Given the description of an element on the screen output the (x, y) to click on. 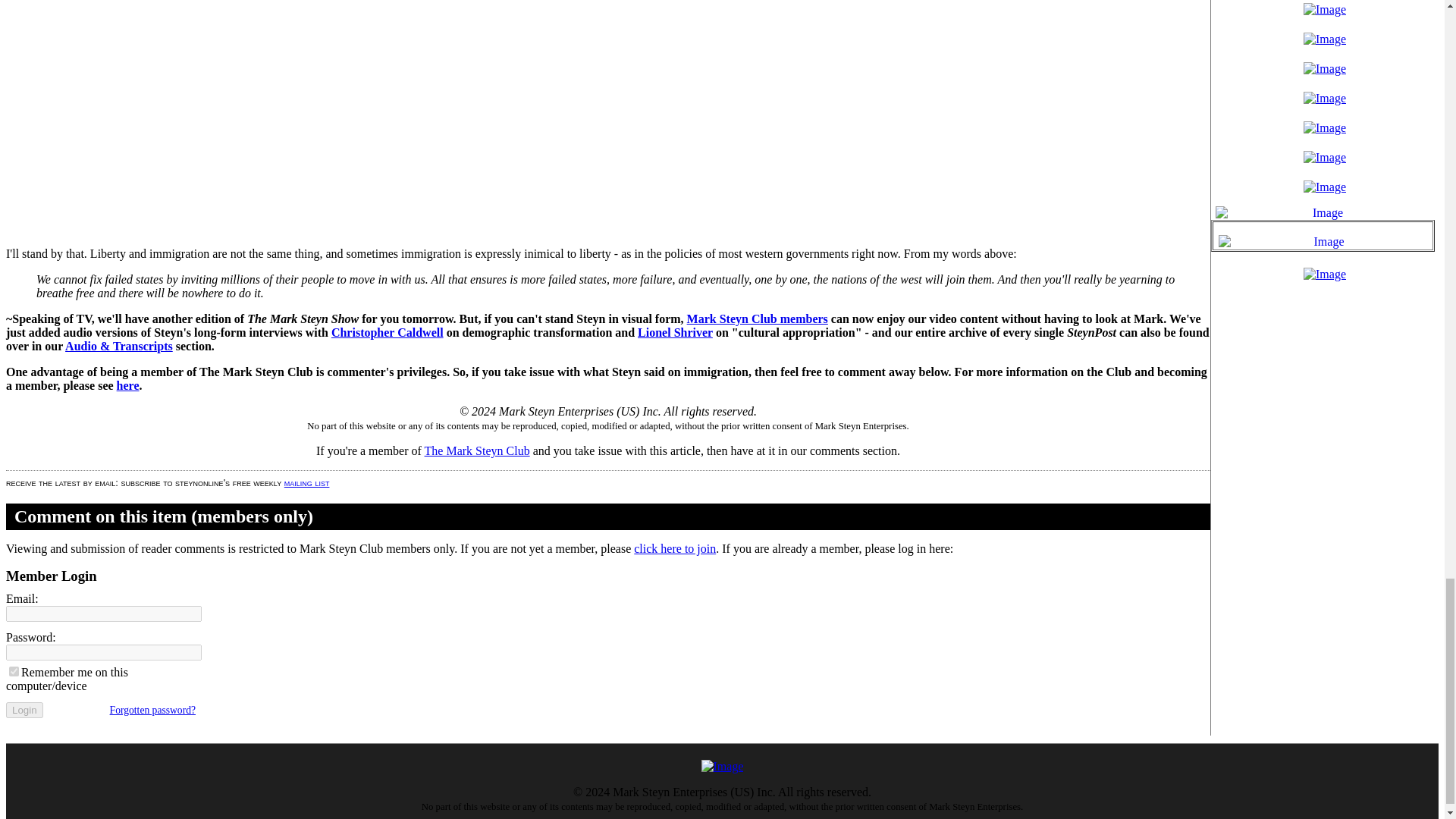
Login (24, 709)
persist (13, 671)
